Given the description of an element on the screen output the (x, y) to click on. 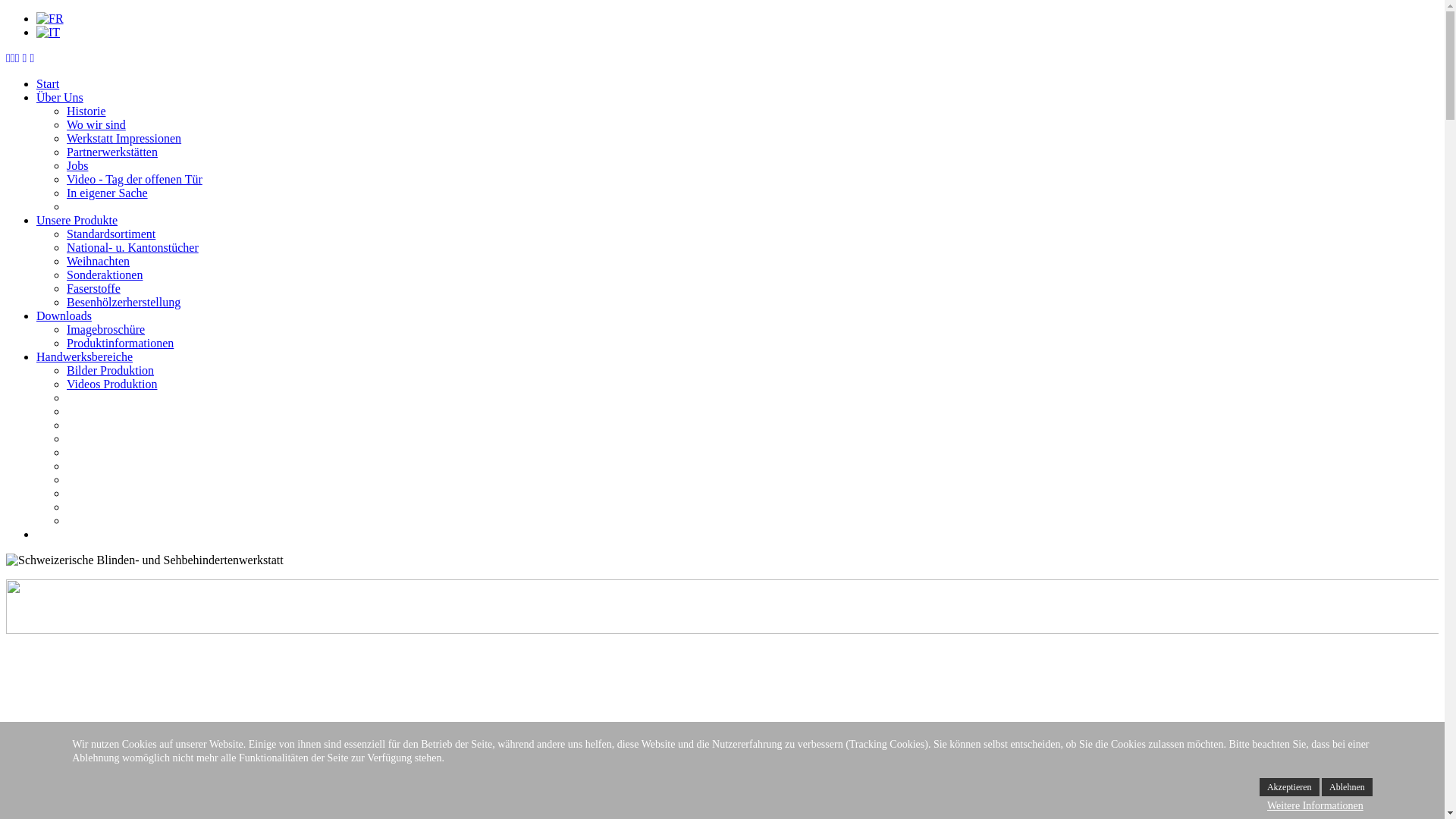
Sonderaktionen Element type: text (104, 274)
Faserstoffe Element type: text (93, 288)
FR Element type: hover (49, 18)
Jobs Element type: text (76, 165)
Akzeptieren Element type: text (1289, 787)
Standardsortiment Element type: text (110, 233)
Handwerksbereiche Element type: text (84, 356)
IT Element type: hover (47, 32)
Wo wir sind Element type: text (95, 124)
Historie Element type: text (86, 110)
Werkstatt Impressionen Element type: text (123, 137)
Bilder Produktion Element type: text (109, 370)
In eigener Sache Element type: text (106, 192)
Weihnachten Element type: text (97, 260)
Produktinformationen Element type: text (119, 342)
Ablehnen Element type: text (1346, 787)
Weitere Informationen Element type: text (1315, 806)
Downloads Element type: text (63, 315)
Videos Produktion Element type: text (111, 383)
Start Element type: text (47, 83)
Unsere Produkte Element type: text (76, 219)
